Given the description of an element on the screen output the (x, y) to click on. 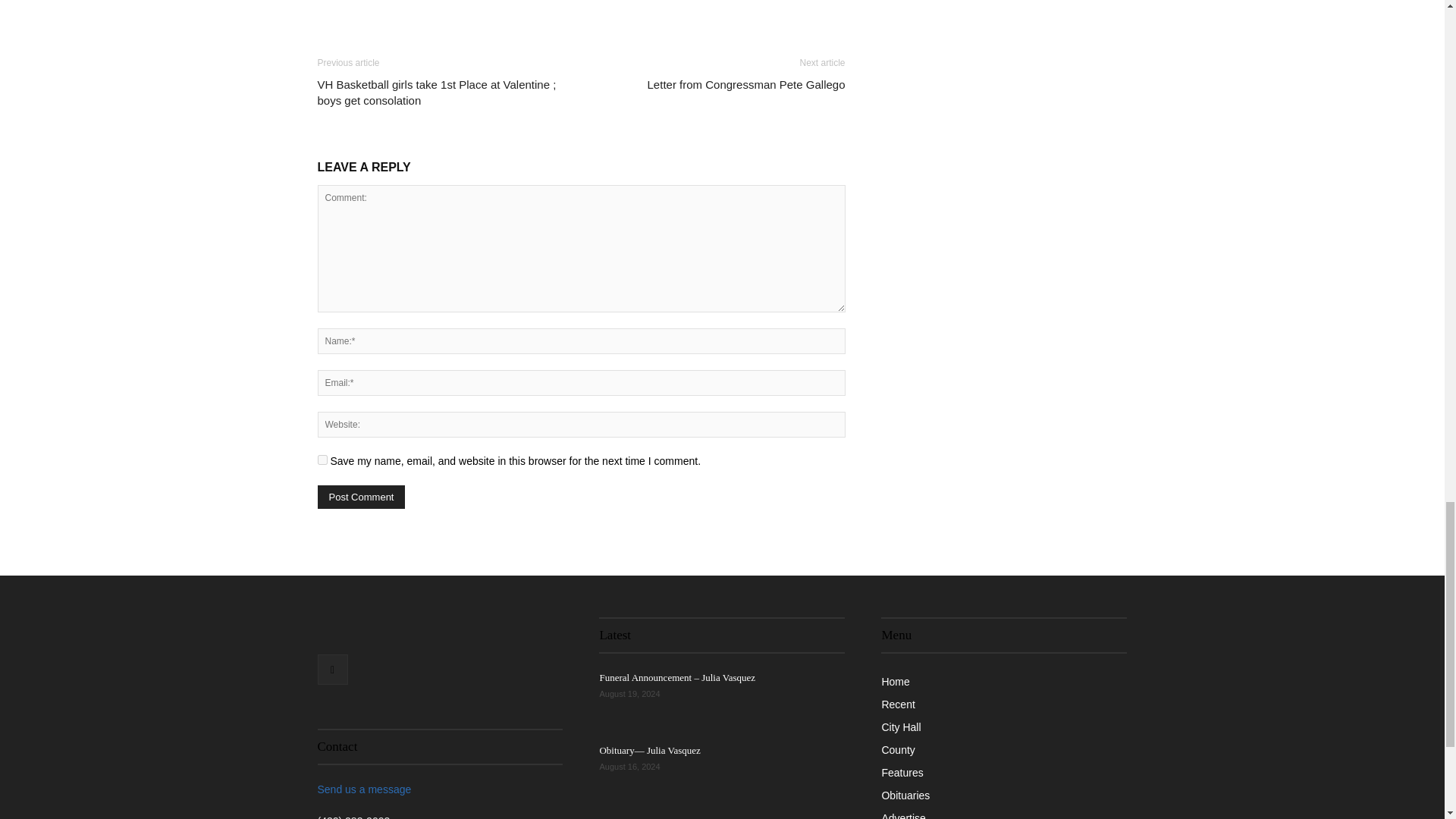
Post Comment (360, 496)
Facebook (332, 669)
yes (321, 460)
Council talks code enforcement (660, 818)
Council talks code enforcement (806, 817)
